Given the description of an element on the screen output the (x, y) to click on. 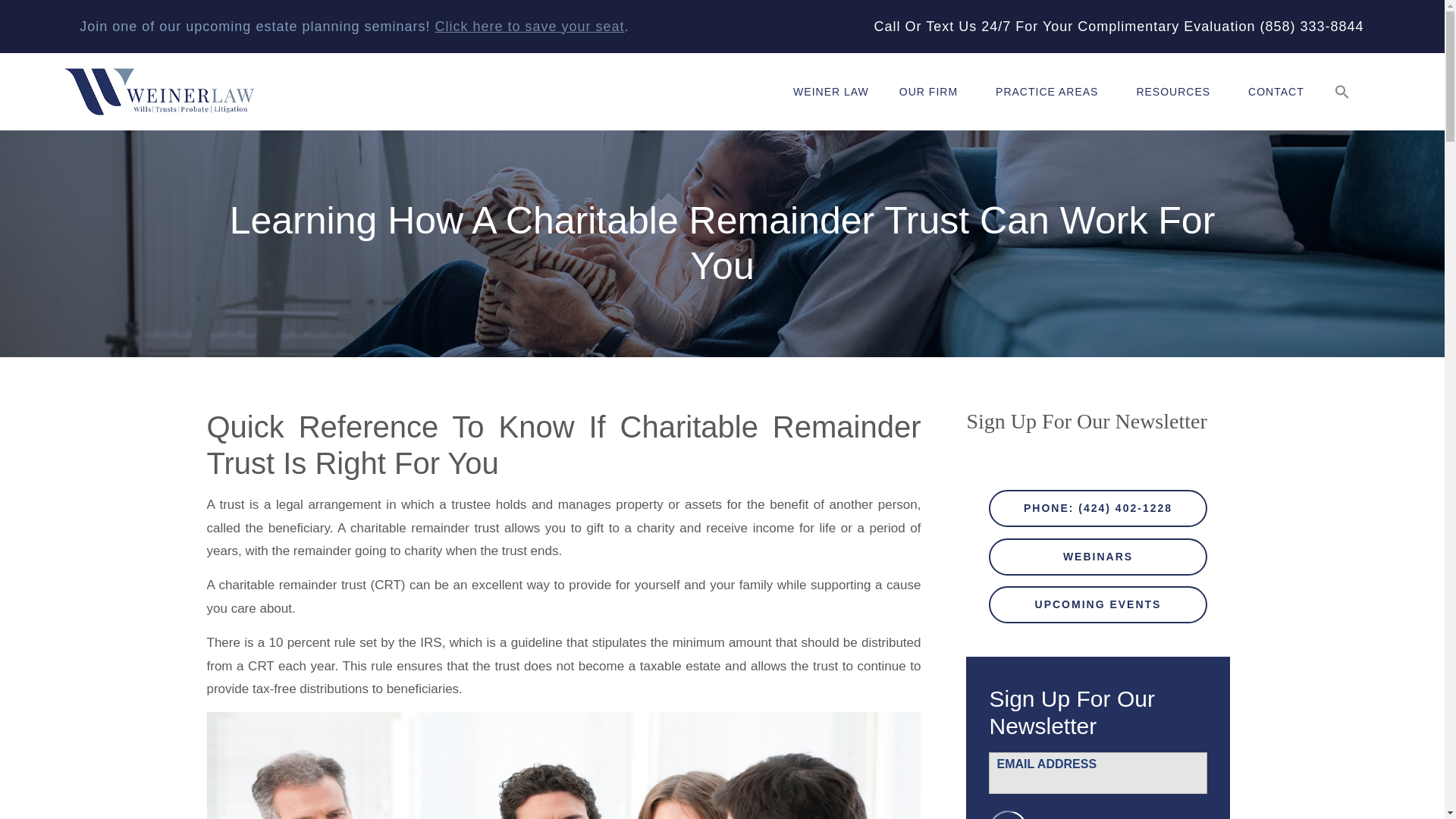
OUR FIRM (931, 91)
PRACTICE AREAS (1050, 91)
WEINER LAW (830, 91)
SUBMIT (1047, 814)
RESOURCES (1177, 91)
CONTACT (1276, 91)
Click here to save your seat (529, 26)
